Given the description of an element on the screen output the (x, y) to click on. 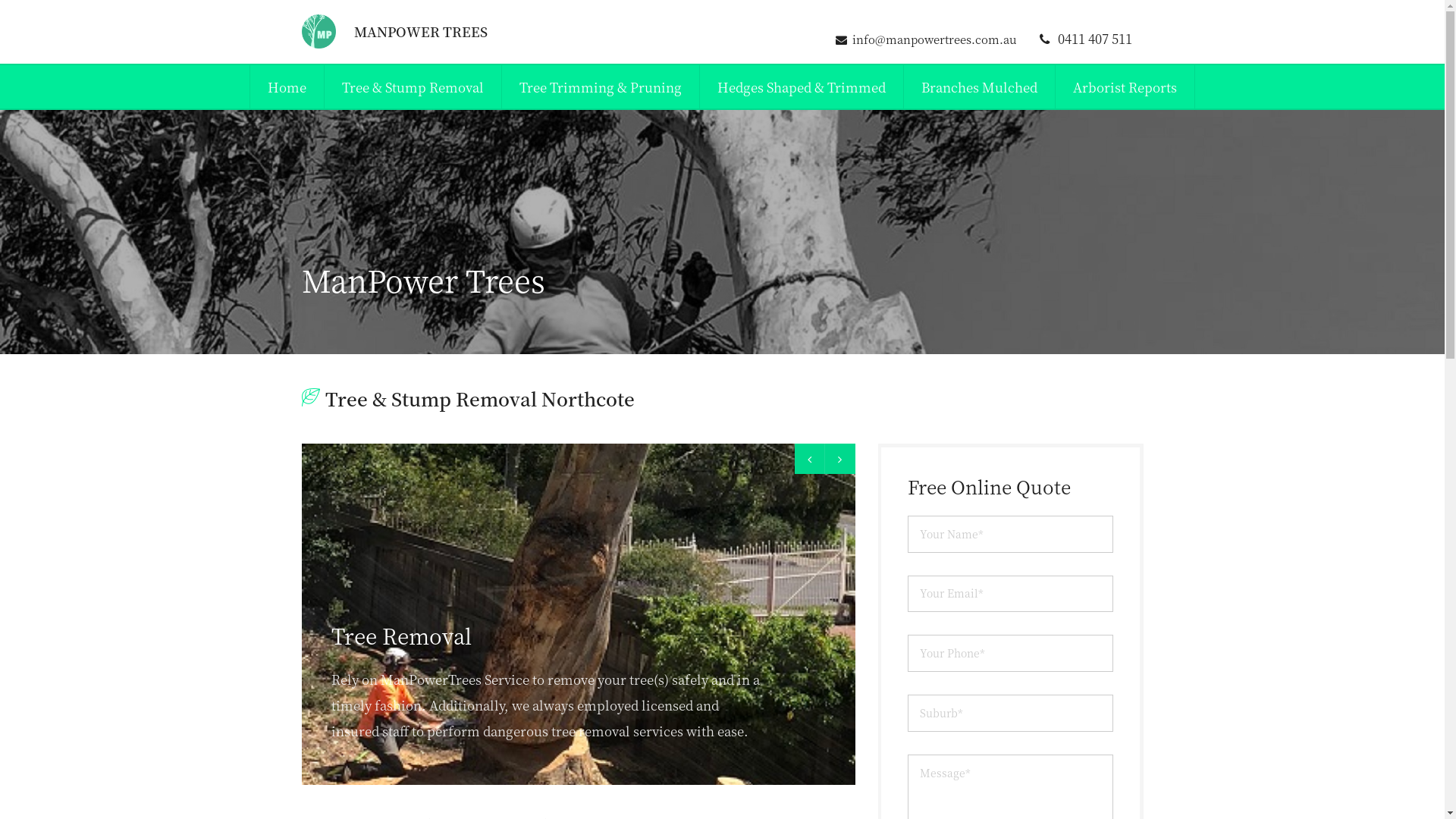
Tree & Stump Removal Element type: text (412, 86)
Tree Trimming & Pruning Element type: text (600, 86)
info@manpowertrees.com.au Element type: text (925, 39)
Branches Mulched Element type: text (978, 86)
0411 407 511 Element type: text (1085, 38)
MANPOWER TREES Element type: text (394, 31)
Home Element type: text (286, 86)
Arborist Reports Element type: text (1124, 86)
Hedges Shaped & Trimmed Element type: text (801, 86)
